Given the description of an element on the screen output the (x, y) to click on. 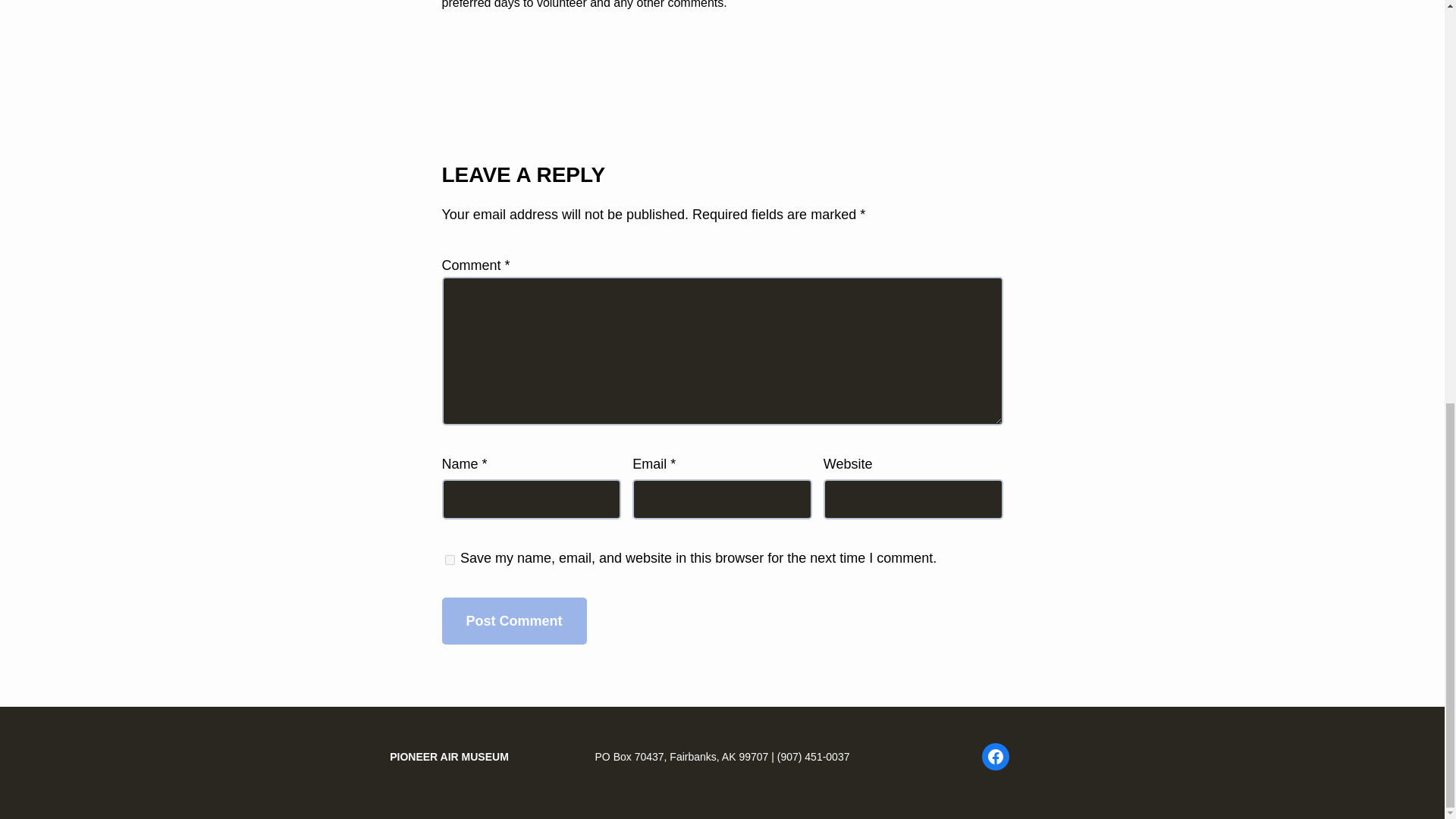
PIONEER AIR MUSEUM (449, 756)
Facebook (995, 756)
Post Comment (513, 621)
Post Comment (513, 621)
